Given the description of an element on the screen output the (x, y) to click on. 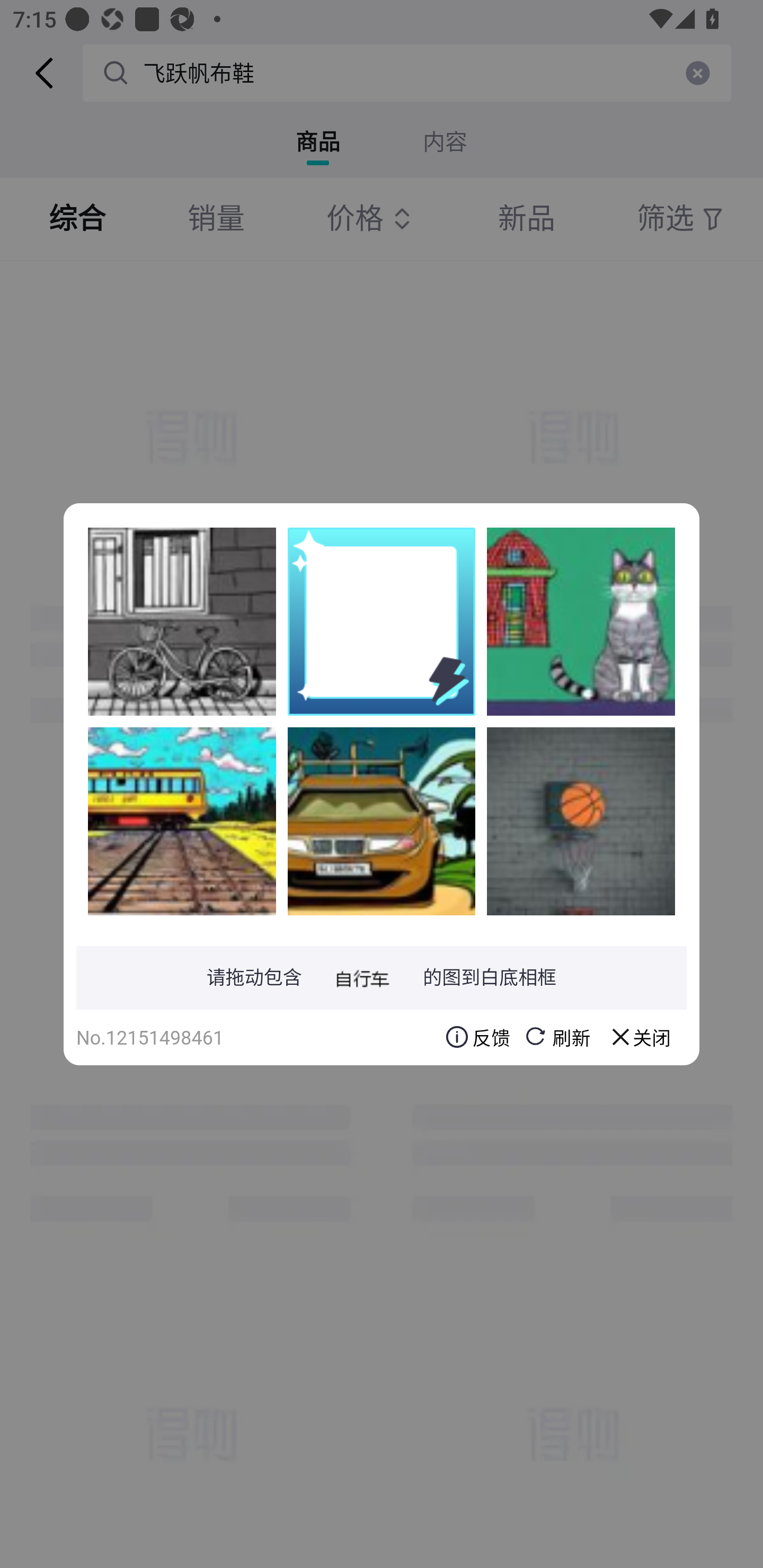
SL3uixTv3E7yf36OKf9Aptx8mAkKoc7PjdzUQJ (580, 621)
IKLueu4X (181, 820)
S4zzISfamUDmJohxZvIwFWYEU5waTnx (381, 820)
